Given the description of an element on the screen output the (x, y) to click on. 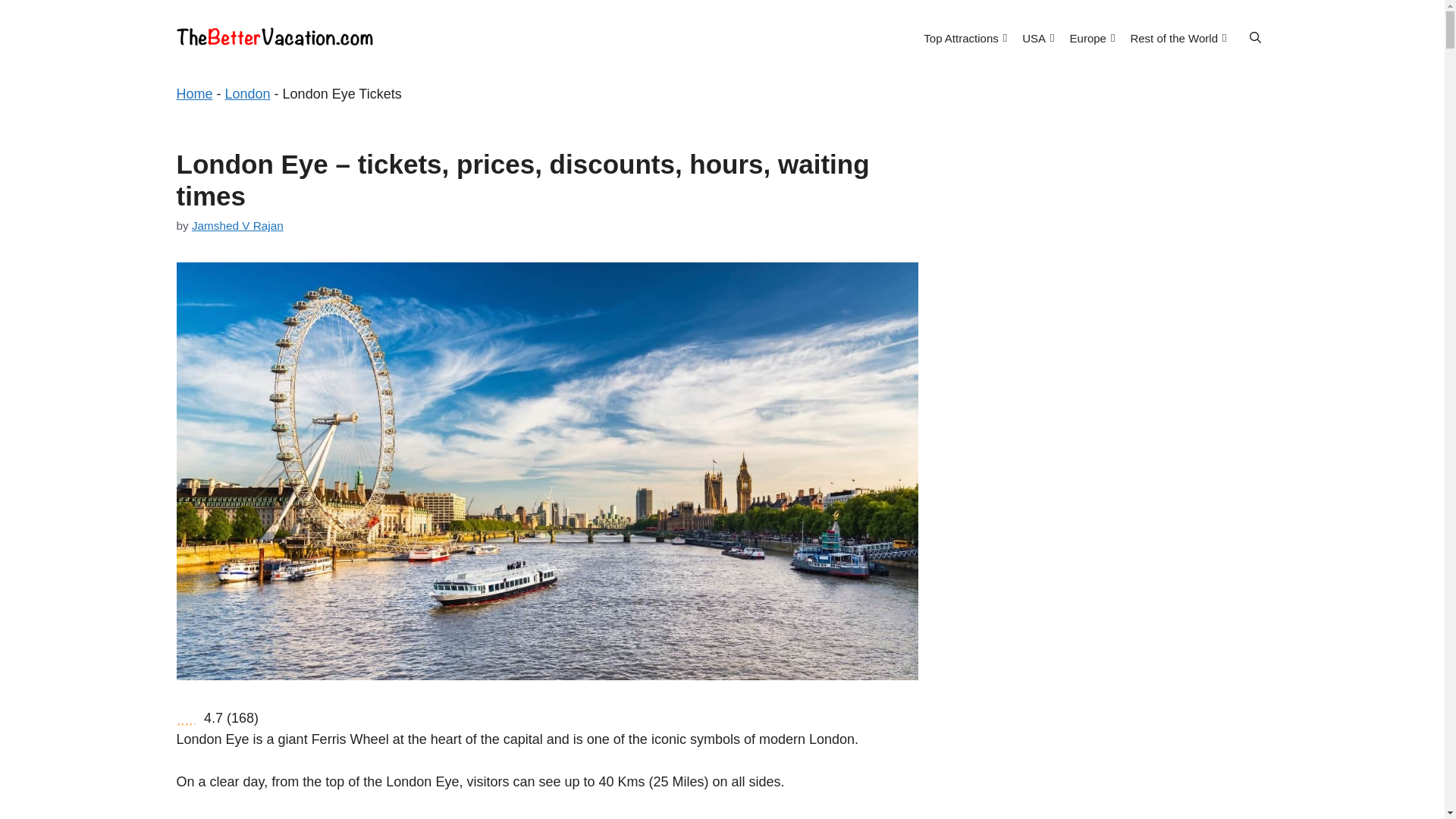
Europe (1092, 37)
USA (1037, 37)
Top Attractions (964, 37)
